Given the description of an element on the screen output the (x, y) to click on. 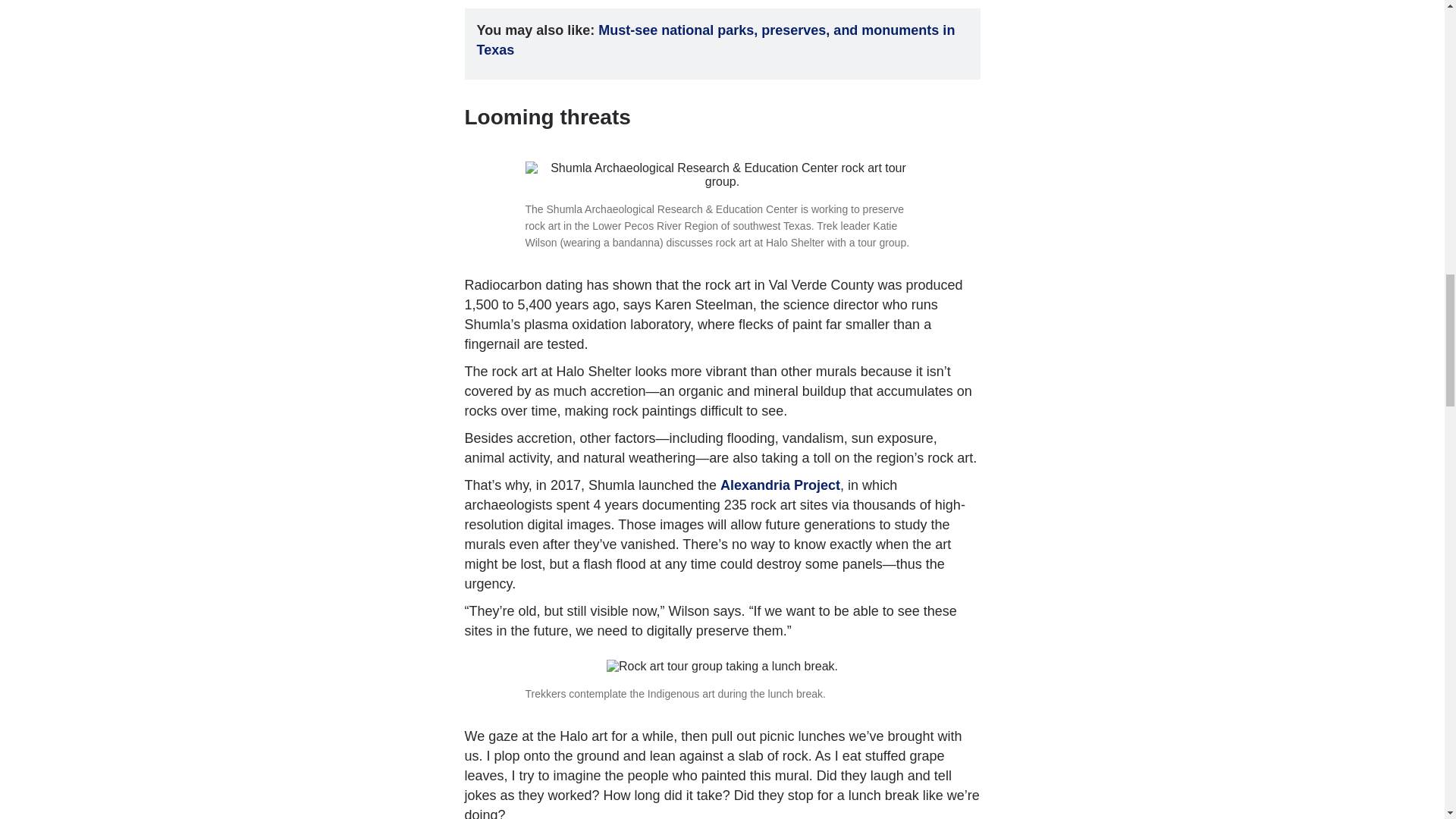
Learn more about the Alexandria Project (780, 485)
